Given the description of an element on the screen output the (x, y) to click on. 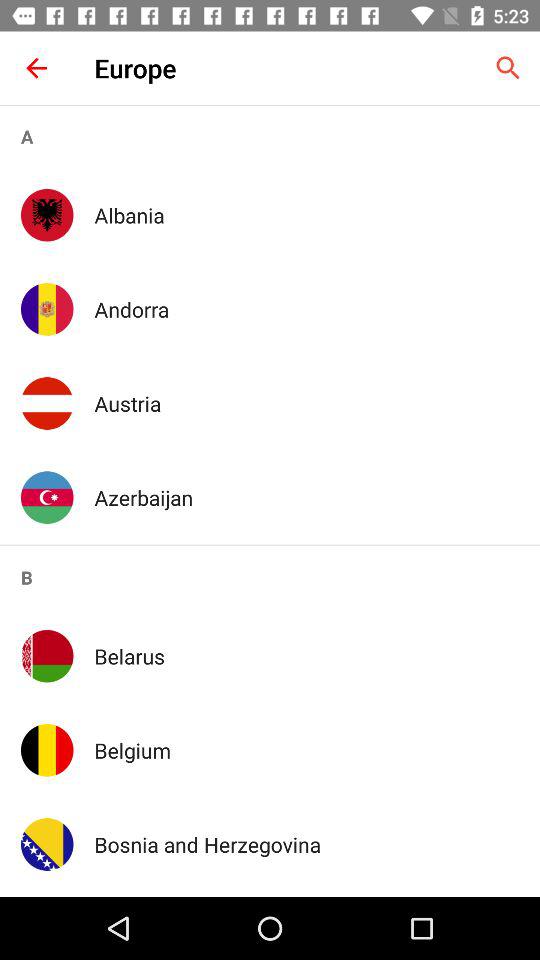
scroll to the belgium icon (306, 750)
